Given the description of an element on the screen output the (x, y) to click on. 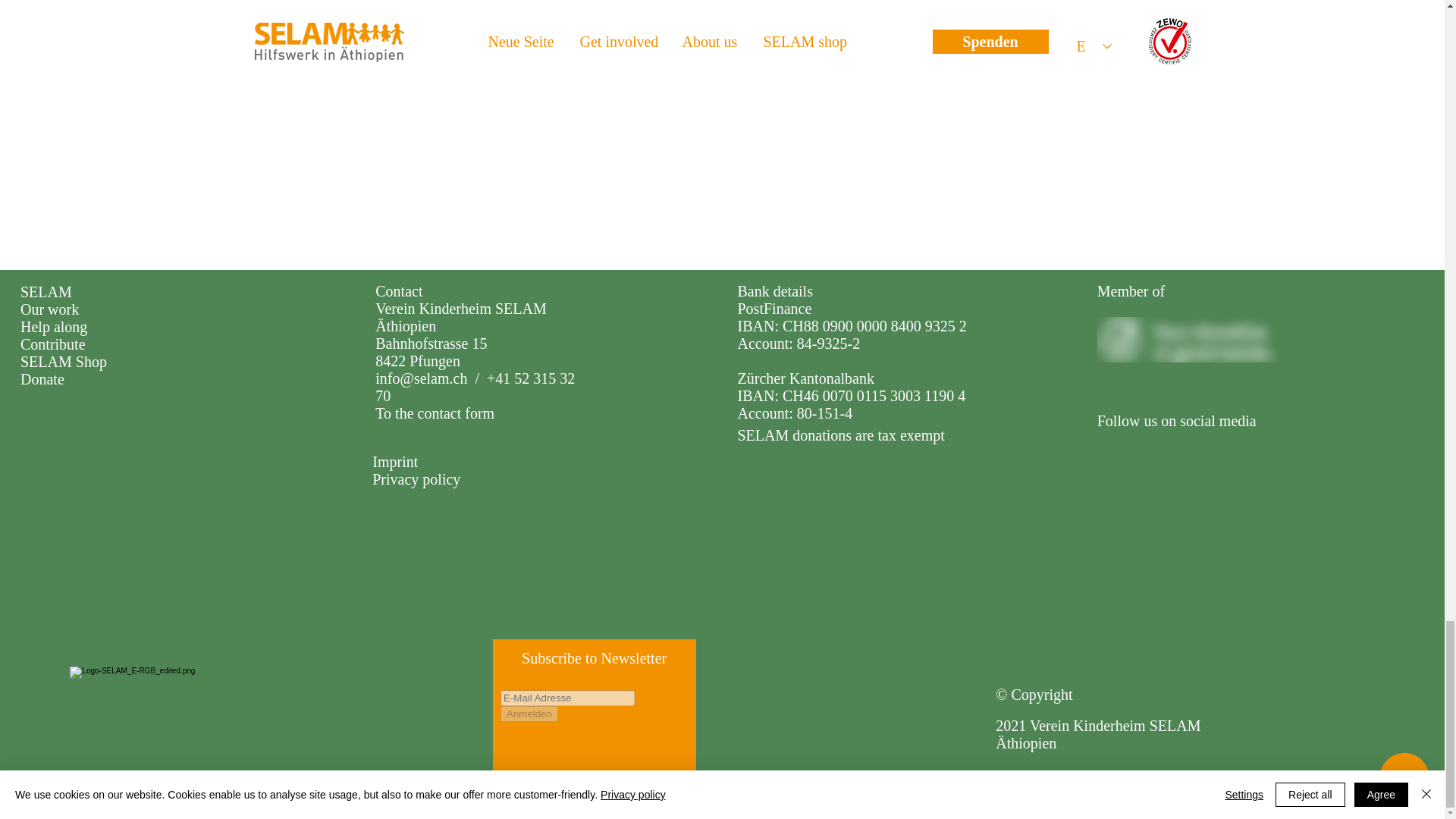
Help along (53, 326)
Contact (398, 290)
Contribute (52, 343)
Our work (49, 309)
Embedded Content (594, 724)
SELAM (45, 291)
SELAM Shop (63, 361)
Donate (42, 379)
